Given the description of an element on the screen output the (x, y) to click on. 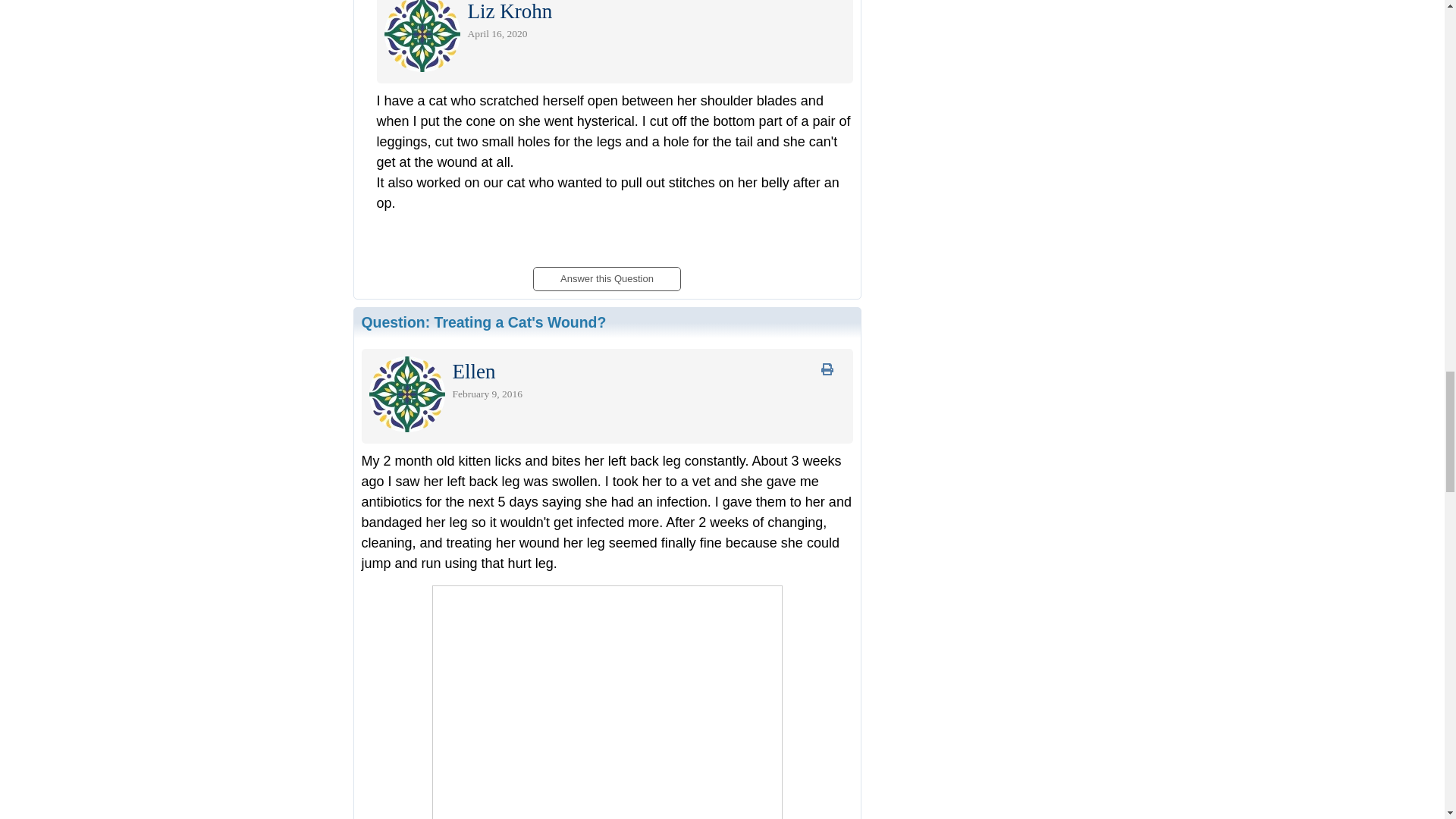
Question: Treating a Cat's Wound? (483, 321)
Ellen (473, 374)
Answer this Question (605, 273)
Liz Krohn (509, 14)
